Given the description of an element on the screen output the (x, y) to click on. 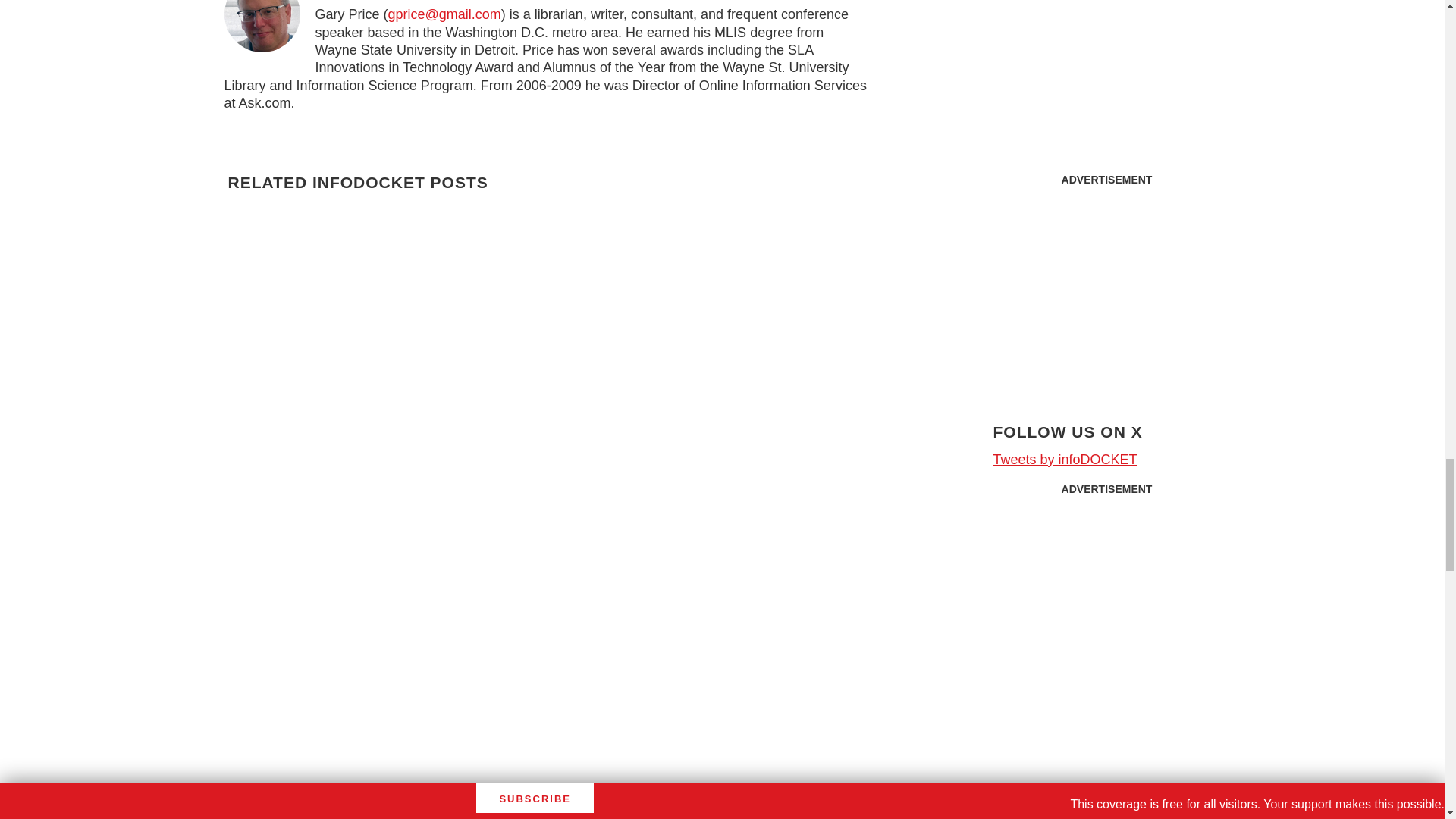
3rd party ad content (1106, 289)
3rd party ad content (1106, 597)
